Given the description of an element on the screen output the (x, y) to click on. 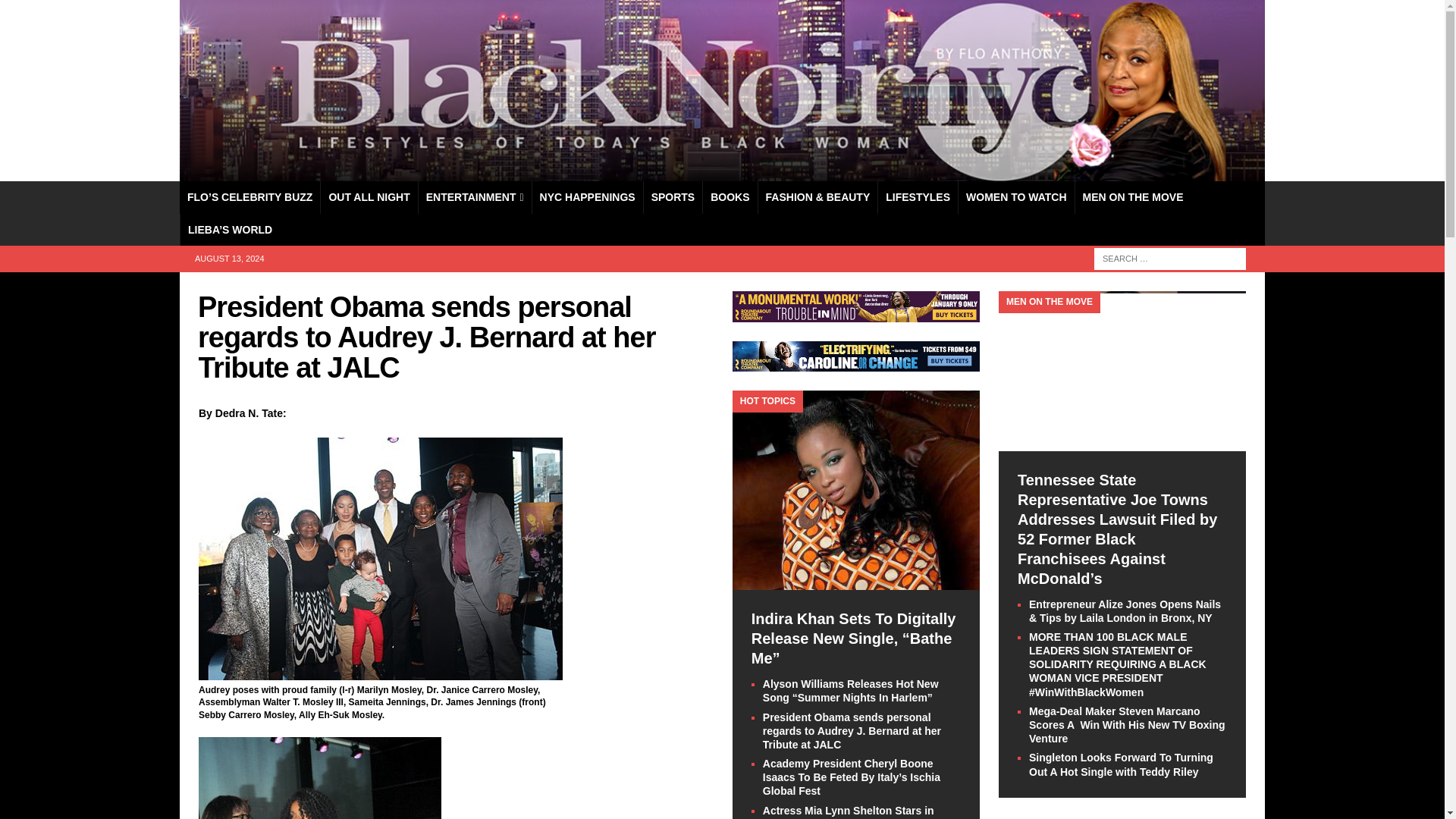
BOOKS (729, 196)
NYC HAPPENINGS (587, 196)
ENTERTAINMENT (474, 196)
OUT ALL NIGHT (368, 196)
Search (56, 11)
SPORTS (673, 196)
WOMEN TO WATCH (1016, 196)
LIFESTYLES (917, 196)
MEN ON THE MOVE (1132, 196)
